Given the description of an element on the screen output the (x, y) to click on. 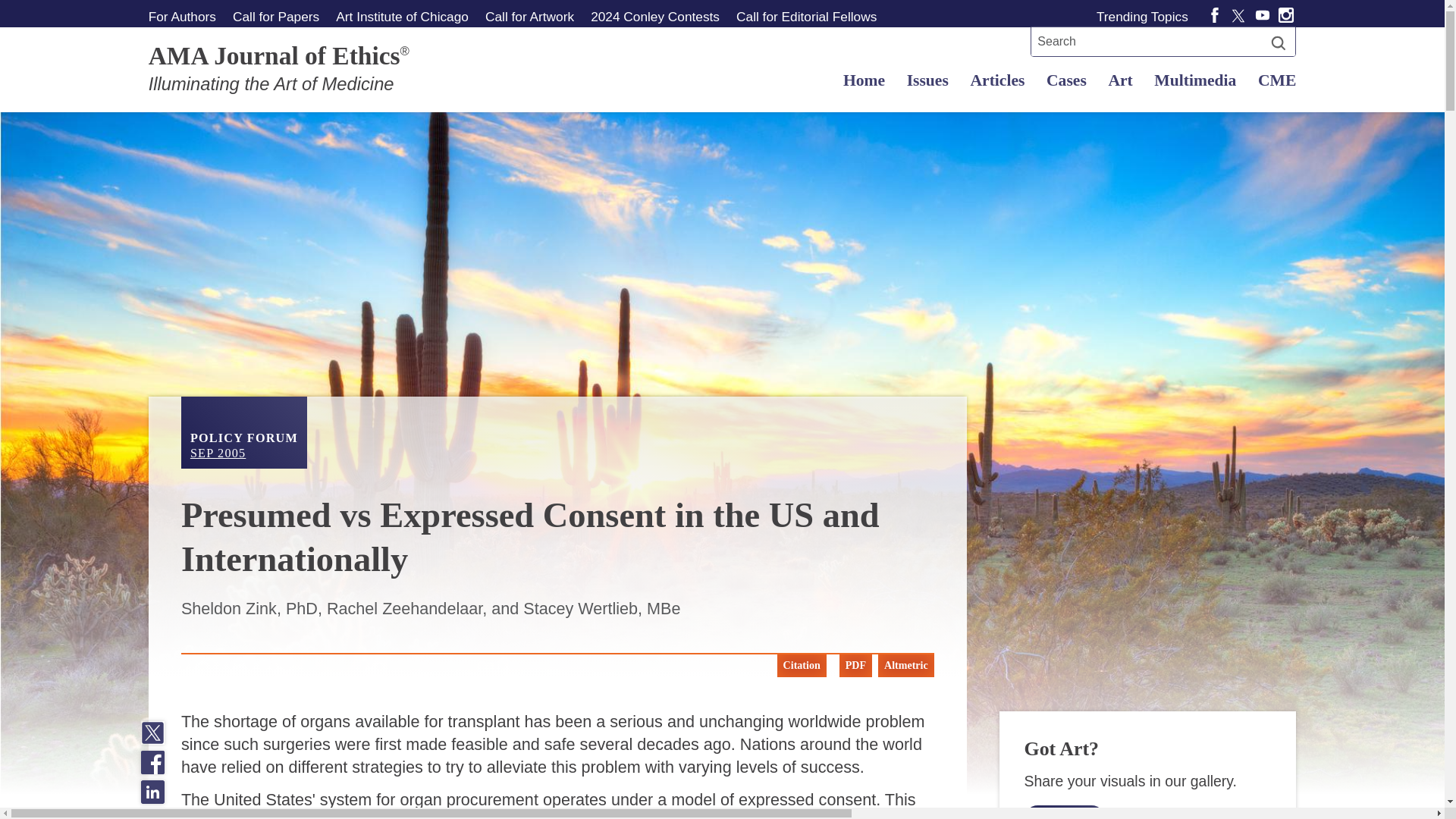
Articles (996, 80)
2024 Conley Contests (654, 15)
PDF (856, 665)
PDF (852, 665)
CME (1272, 80)
For Authors (185, 15)
alt (1064, 812)
Trending Topics (1145, 15)
Call for Papers (274, 15)
Art (1120, 80)
See the upcoming theme issues (274, 15)
Multimedia (243, 432)
Examine current issue (1194, 80)
Search (1145, 15)
